Given the description of an element on the screen output the (x, y) to click on. 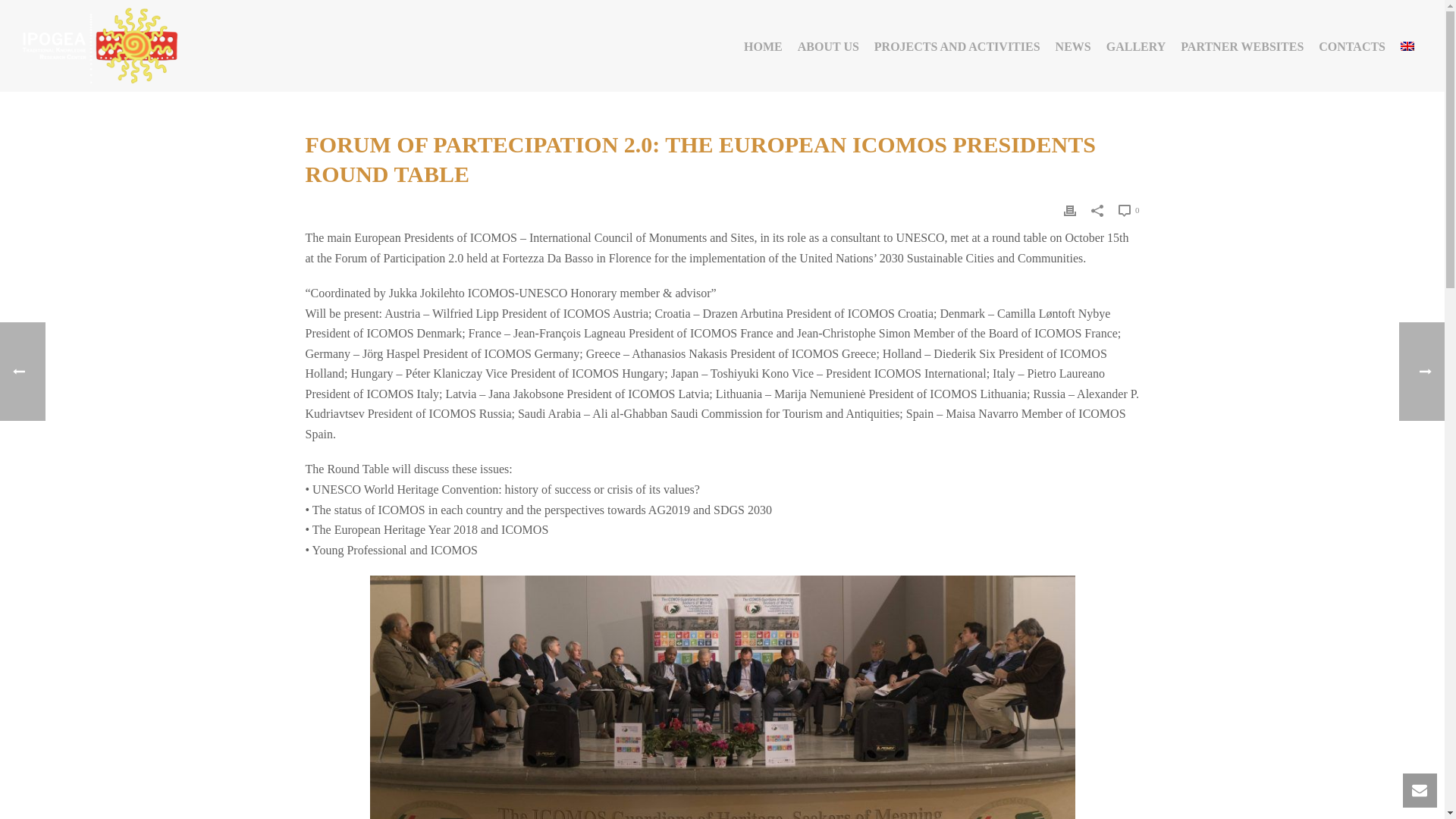
PARTNER WEBSITES (1242, 45)
PROJECTS AND ACTIVITIES (957, 45)
PROJECTS AND ACTIVITIES (957, 45)
CONTACTS (1352, 45)
Centro studi sulle Conoscenze Tradizionali (97, 45)
PARTNER WEBSITES (1242, 45)
CONTACTS (1352, 45)
0 (1128, 209)
